Given the description of an element on the screen output the (x, y) to click on. 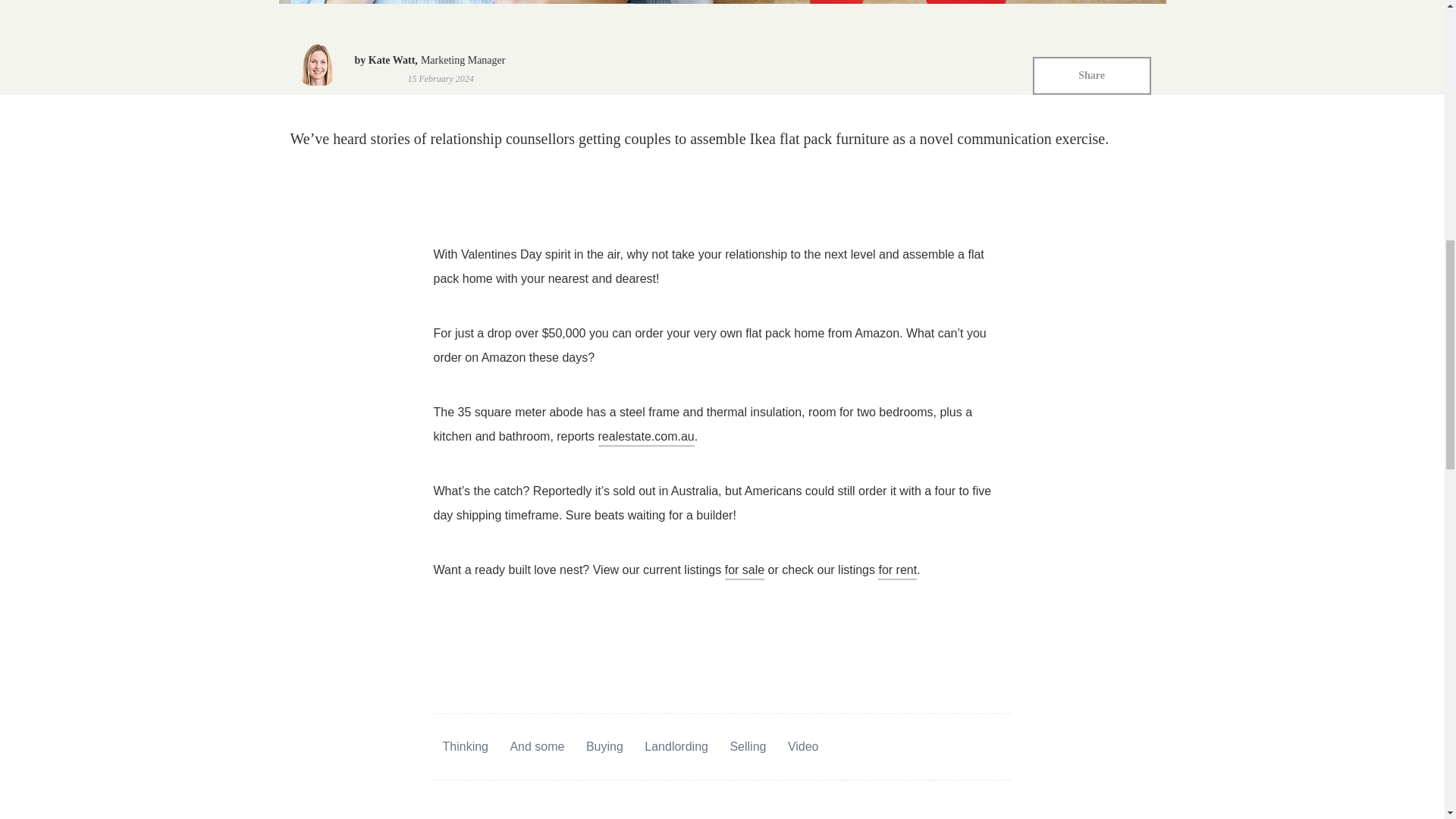
And some (536, 747)
for sale (744, 571)
realestate.com.au (646, 437)
Video (802, 747)
Landlording (676, 747)
for rent (897, 571)
Buying (604, 747)
Thinking (464, 747)
Selling (747, 747)
